Given the description of an element on the screen output the (x, y) to click on. 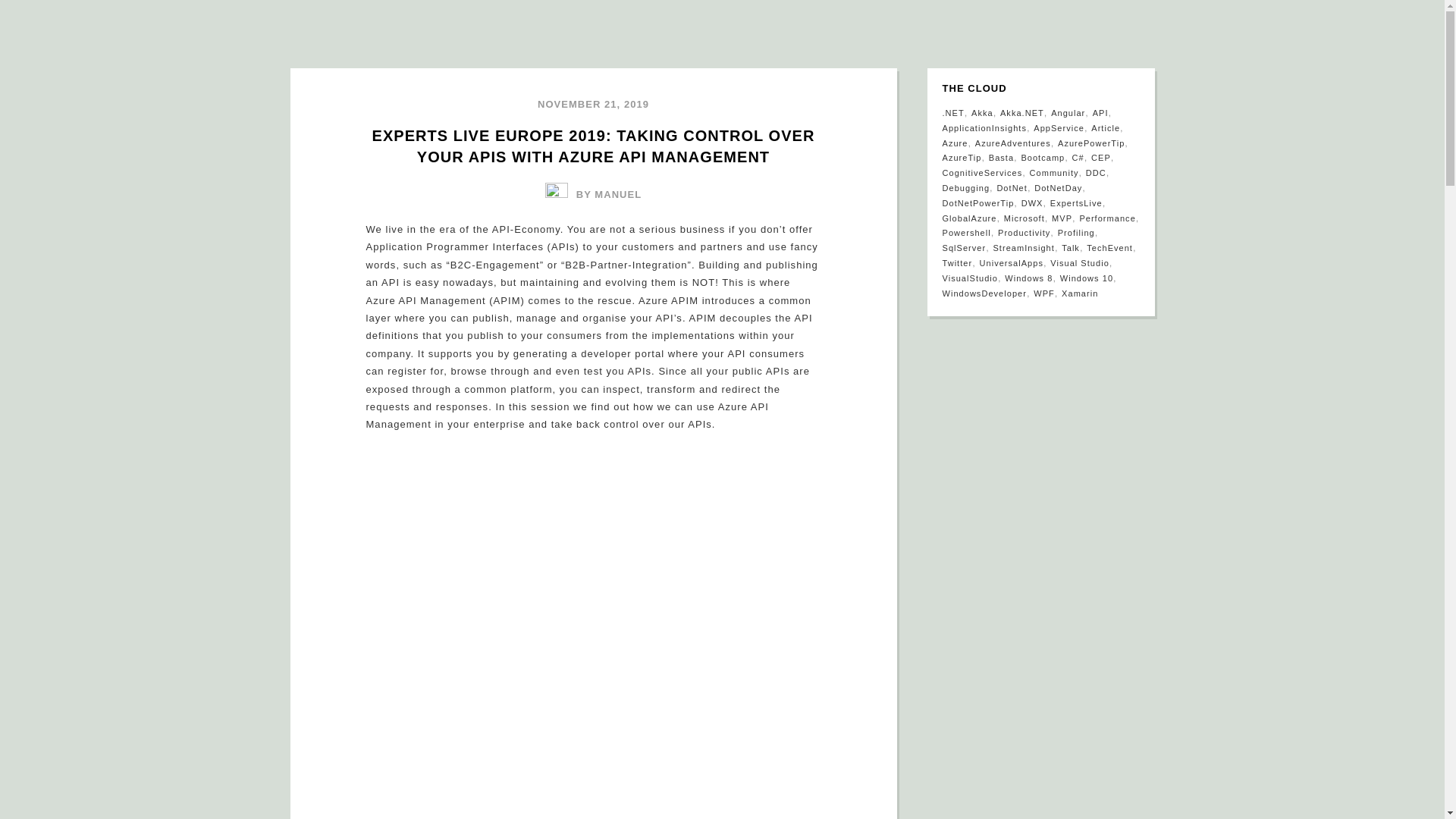
AppService (1058, 127)
.NET (952, 112)
Basta (1000, 157)
AzureTip (961, 157)
Akka.NET (1021, 112)
BY MANUEL (593, 193)
API (1100, 112)
Article (1104, 127)
ApplicationInsights (984, 127)
Azure (955, 143)
AzureAdventures (1013, 143)
AzurePowerTip (1091, 143)
Akka (981, 112)
Bootcamp (1042, 157)
